Given the description of an element on the screen output the (x, y) to click on. 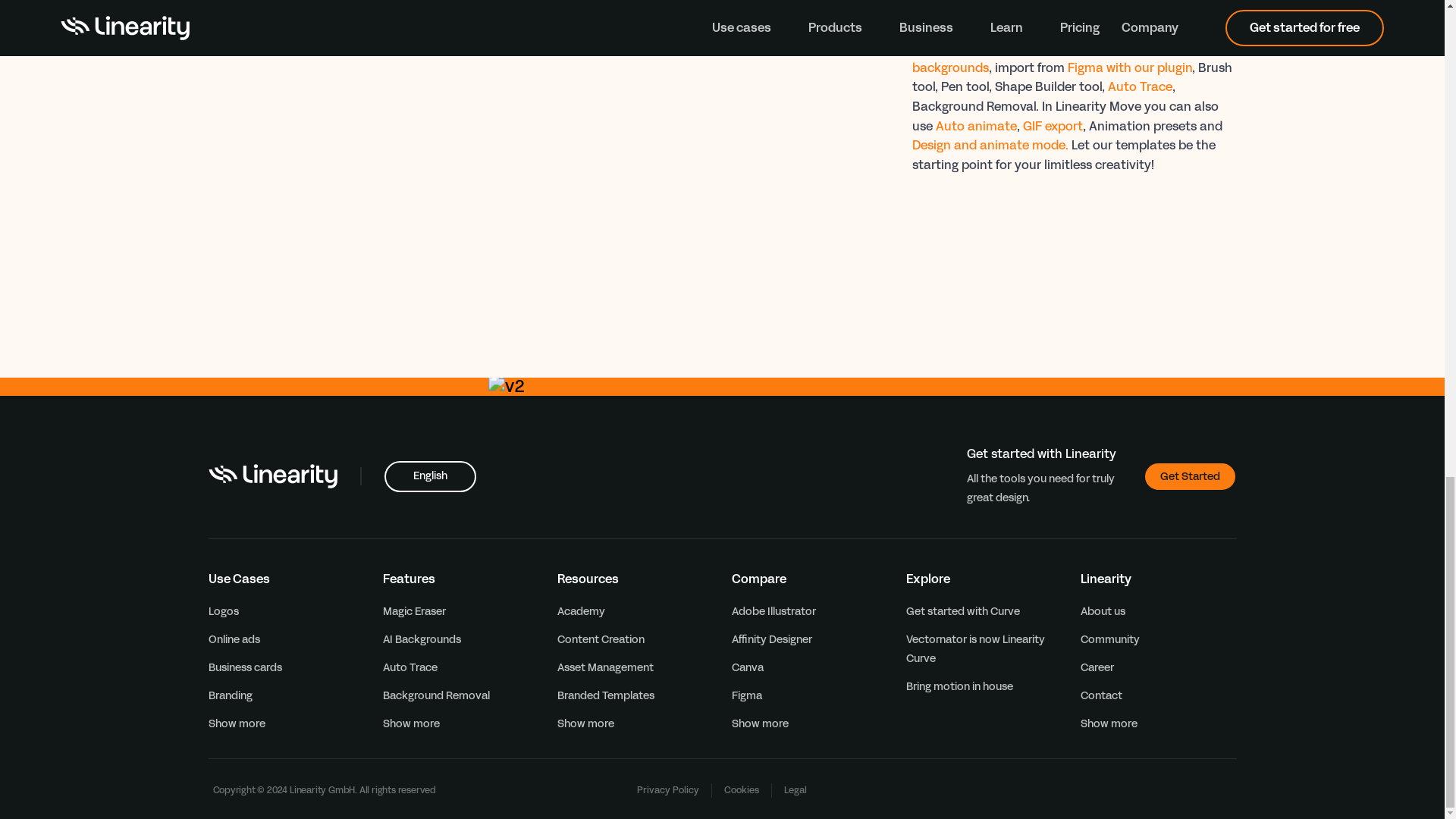
Academy (580, 611)
Design and animate mode. (989, 144)
AI backgrounds (1034, 57)
Business cards (244, 667)
Auto Trace (408, 667)
Auto Trace (1139, 86)
Background Removal (435, 695)
GIF export (1051, 126)
Magic Eraser (413, 611)
Logos (223, 611)
